Given the description of an element on the screen output the (x, y) to click on. 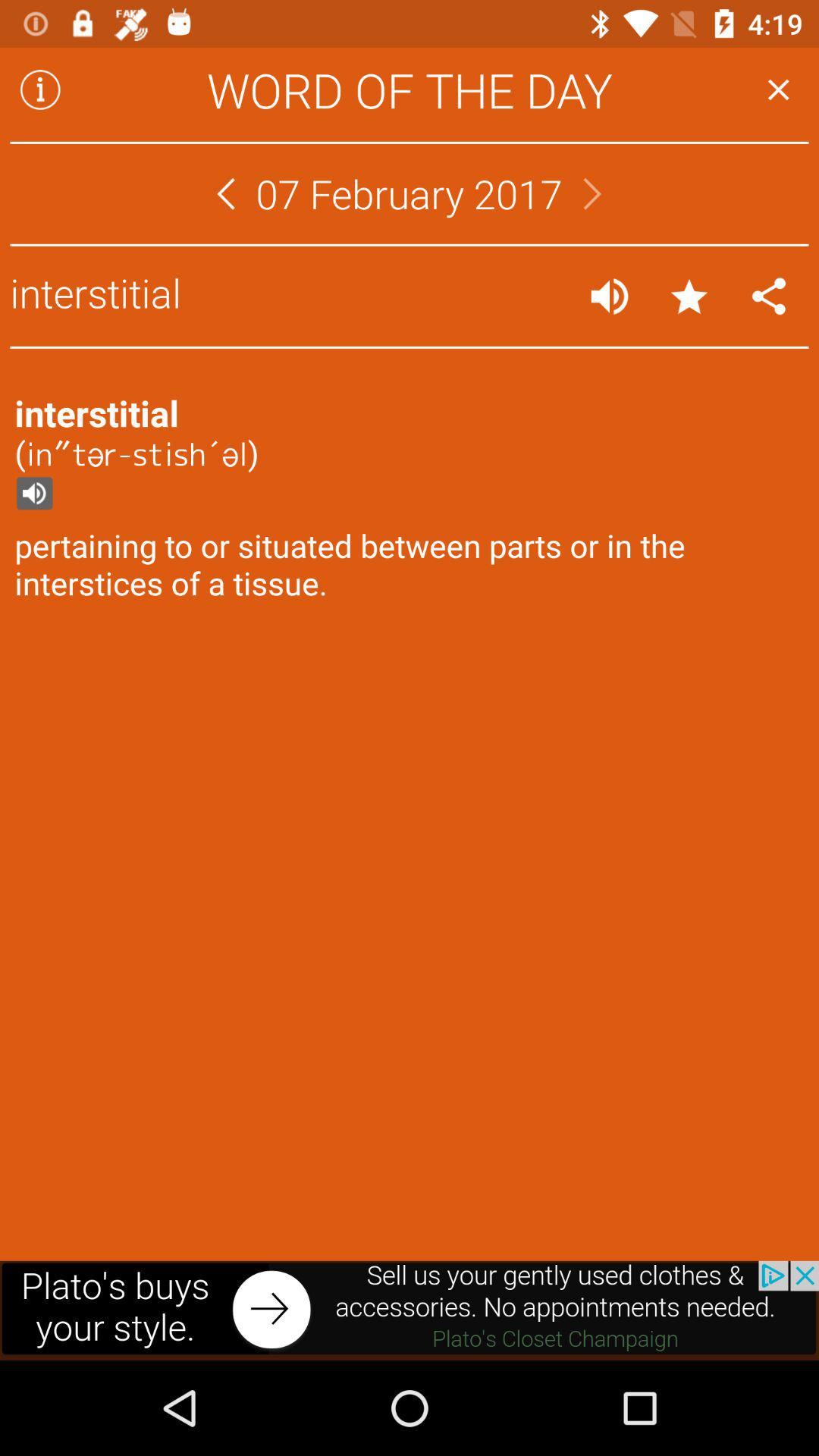
exit word of the day (778, 89)
